Given the description of an element on the screen output the (x, y) to click on. 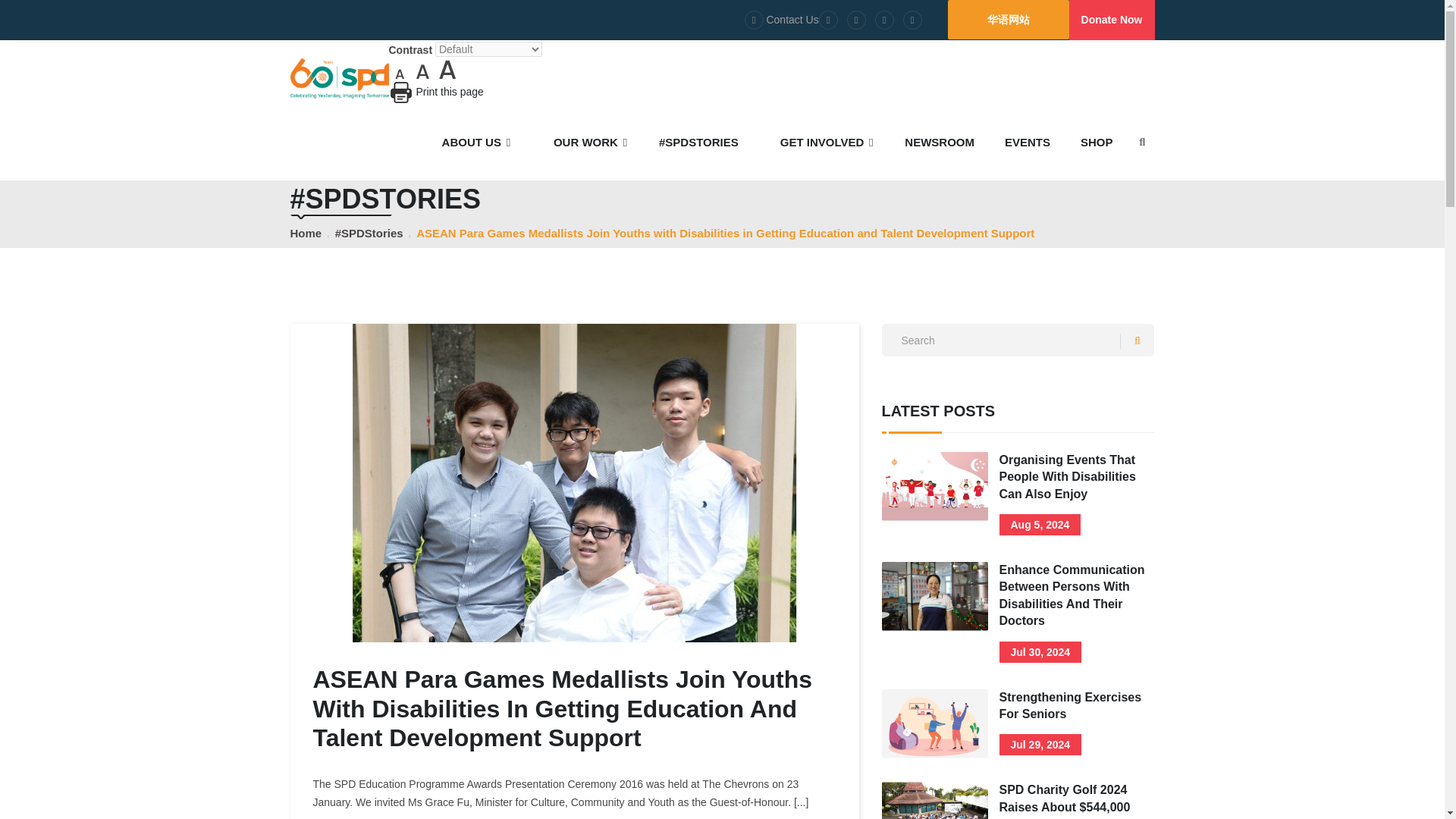
Decrease Font Size (398, 69)
Serving people with disabilities since 1964 (338, 78)
Print this page (400, 92)
Increase Font Size (447, 69)
Default Font Size (422, 69)
Contact Us (781, 20)
Donate now (1111, 20)
